Given the description of an element on the screen output the (x, y) to click on. 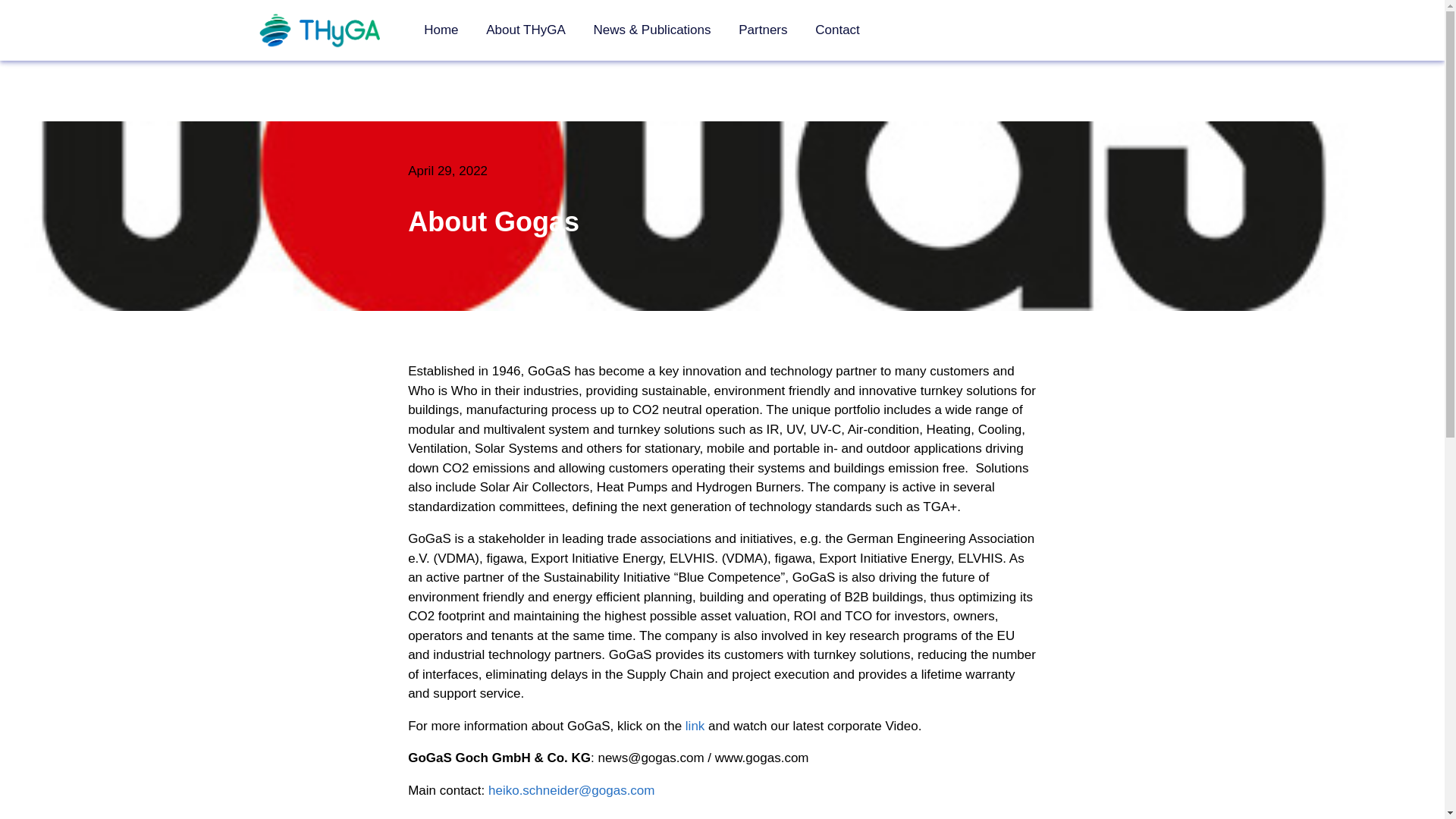
Home (440, 30)
link (694, 726)
Home (440, 30)
About THyGA (526, 30)
THyGA (324, 30)
Partners (762, 30)
Partners (762, 30)
Contact (837, 30)
About THyGA (526, 30)
Contact (837, 30)
